Given the description of an element on the screen output the (x, y) to click on. 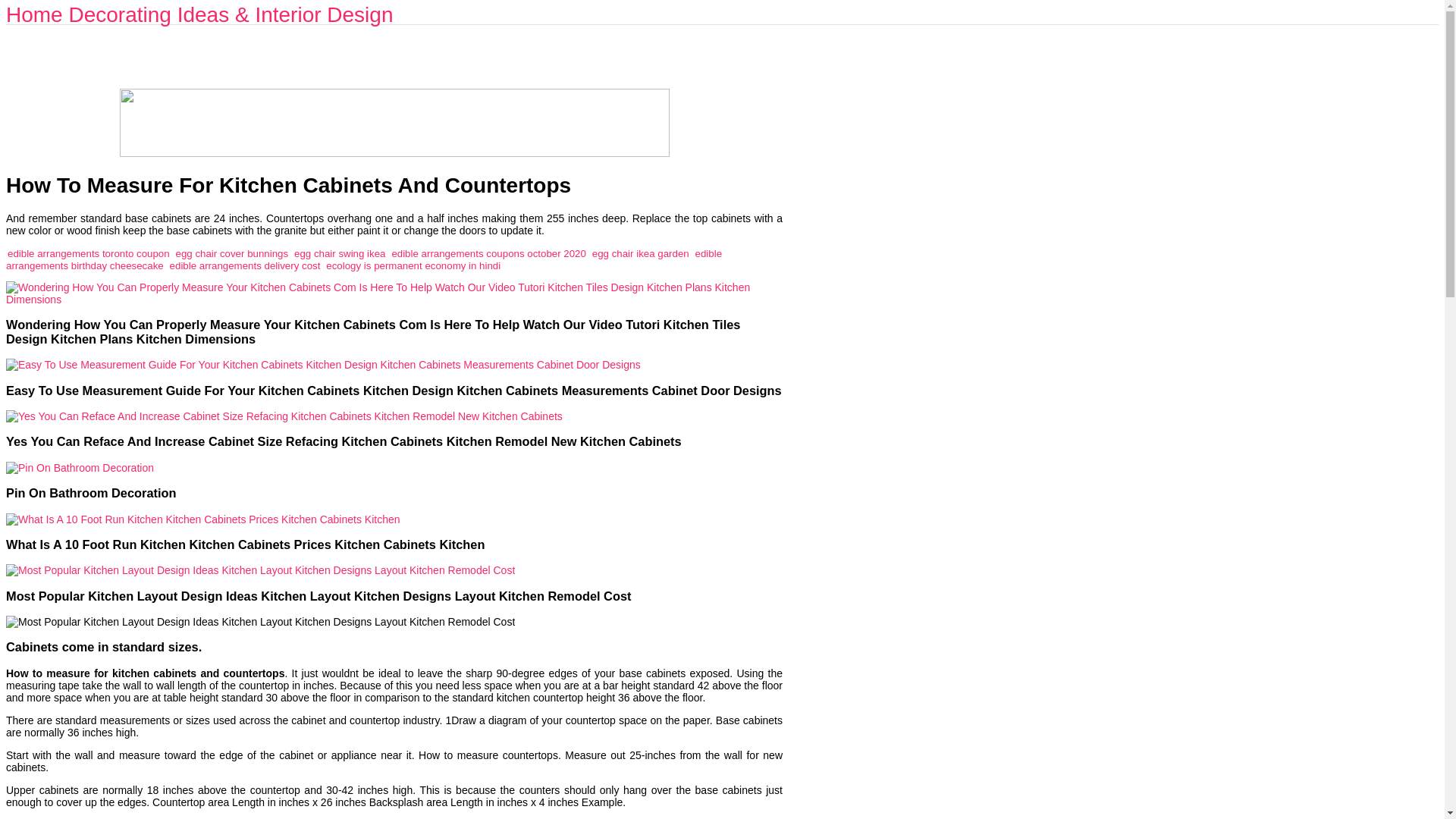
edible arrangements delivery cost (245, 265)
egg chair ikea garden (640, 252)
egg chair swing ikea (339, 252)
edible arrangements toronto coupon (88, 252)
egg chair cover bunnings (232, 252)
edible arrangements coupons october 2020 (488, 252)
edible arrangements birthday cheesecake (363, 259)
ecology is permanent economy in hindi (413, 265)
